Given the description of an element on the screen output the (x, y) to click on. 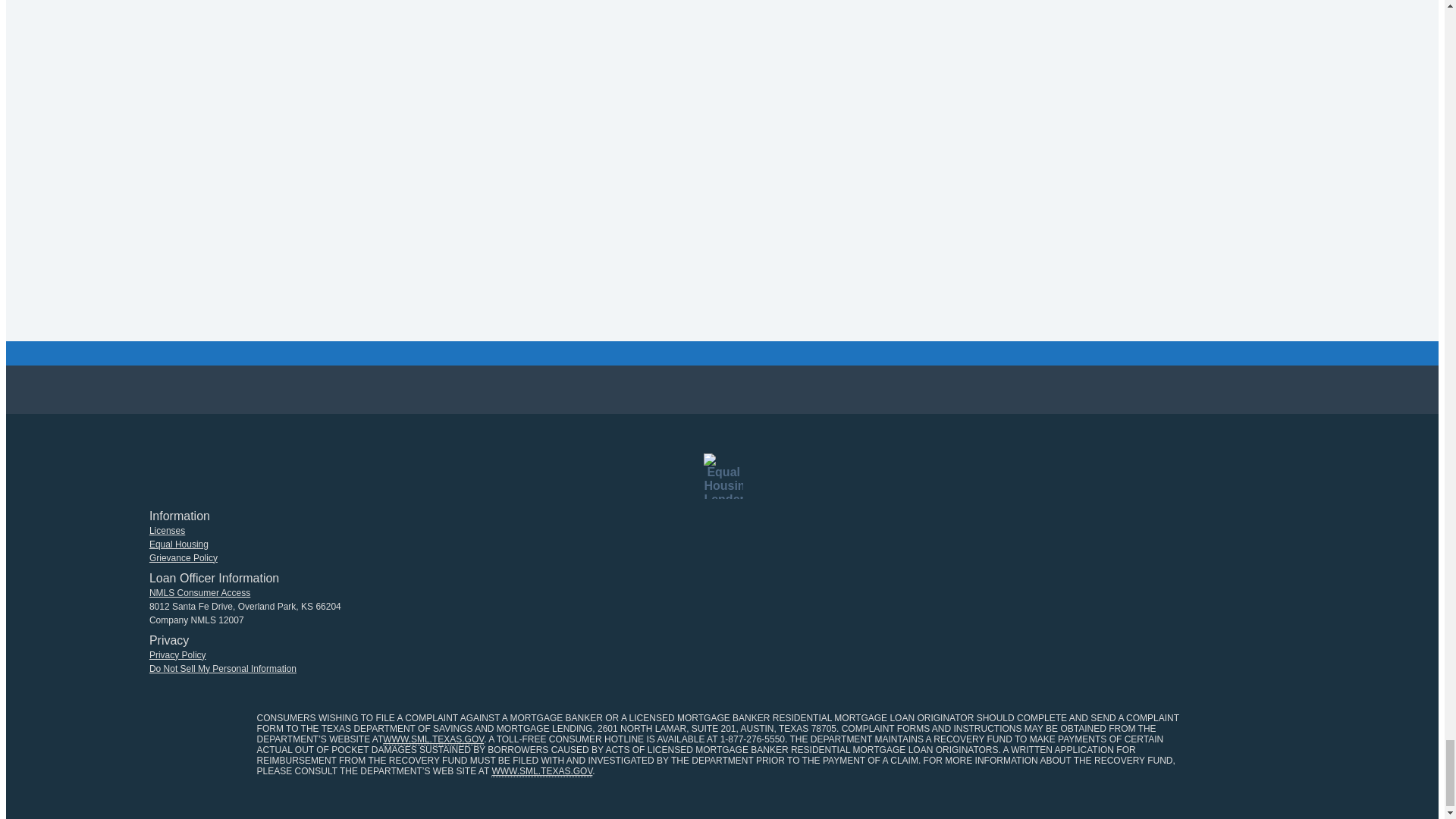
Grievance Policy (182, 557)
Do Not Sell My Personal Information (223, 668)
Equal Housing (178, 543)
Licenses (166, 530)
Privacy Policy (177, 655)
WWW.SML.TEXAS.GOV (432, 739)
WWW.SML.TEXAS.GOV (542, 771)
NMLS Consumer Access (199, 593)
